Given the description of an element on the screen output the (x, y) to click on. 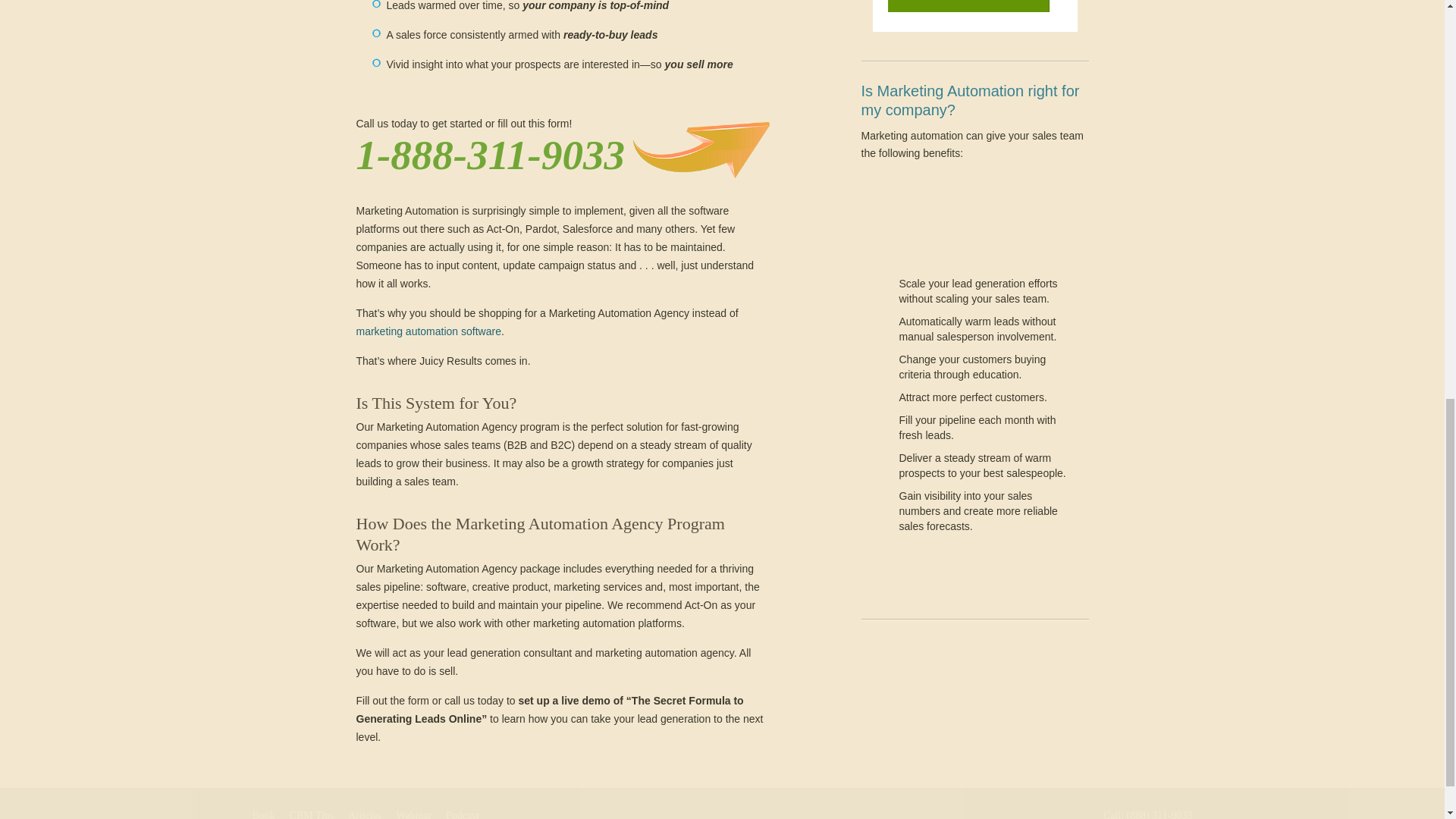
CRM Tips (311, 814)
marketing automation software (428, 331)
Book (263, 814)
Articles (364, 814)
Webinar (413, 814)
Podcast (462, 814)
